Given the description of an element on the screen output the (x, y) to click on. 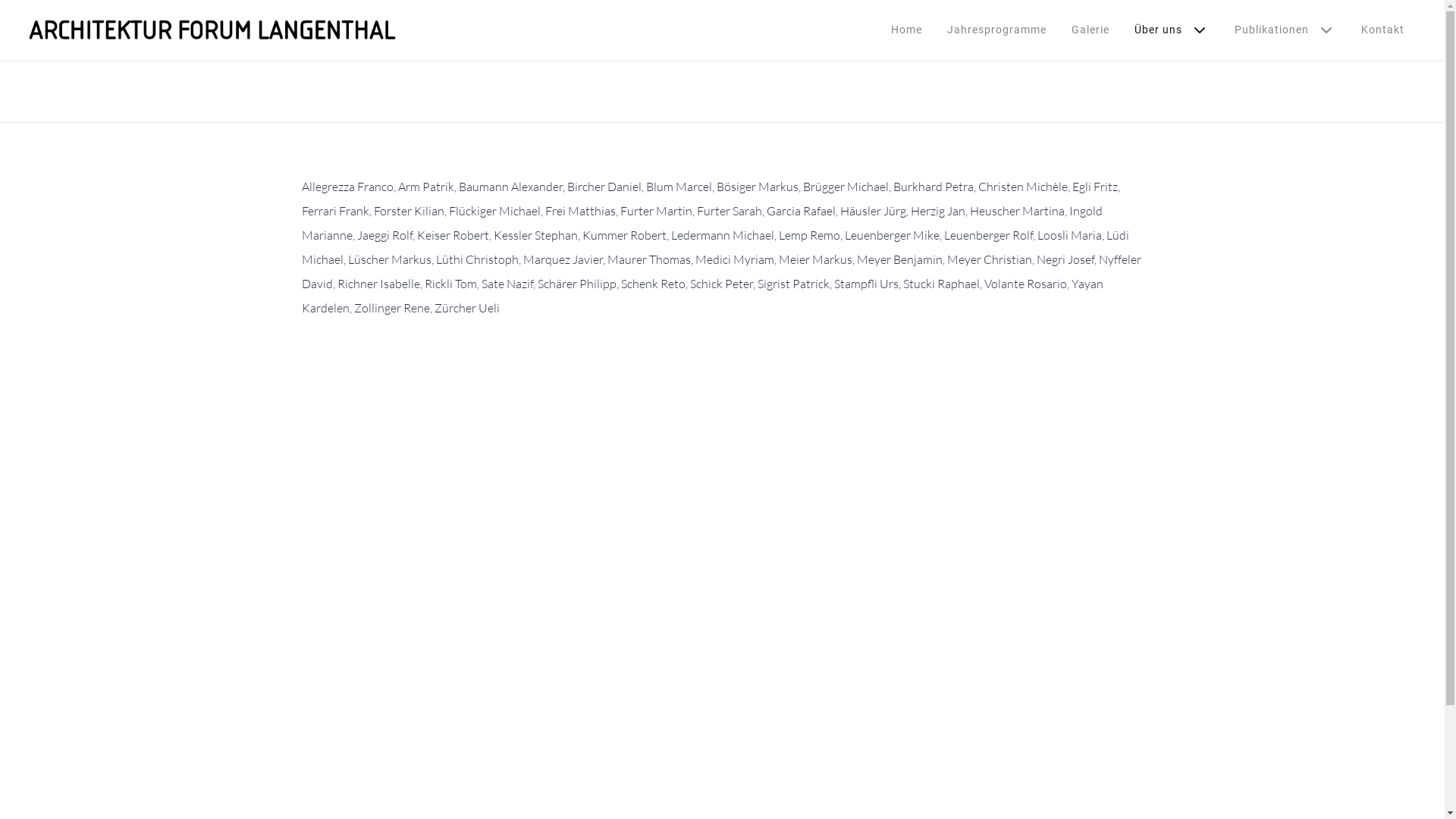
Home Element type: text (906, 29)
Jahresprogramme Element type: text (996, 29)
Galerie Element type: text (1090, 29)
logo Element type: hover (211, 29)
Kontakt Element type: text (1382, 29)
